Given the description of an element on the screen output the (x, y) to click on. 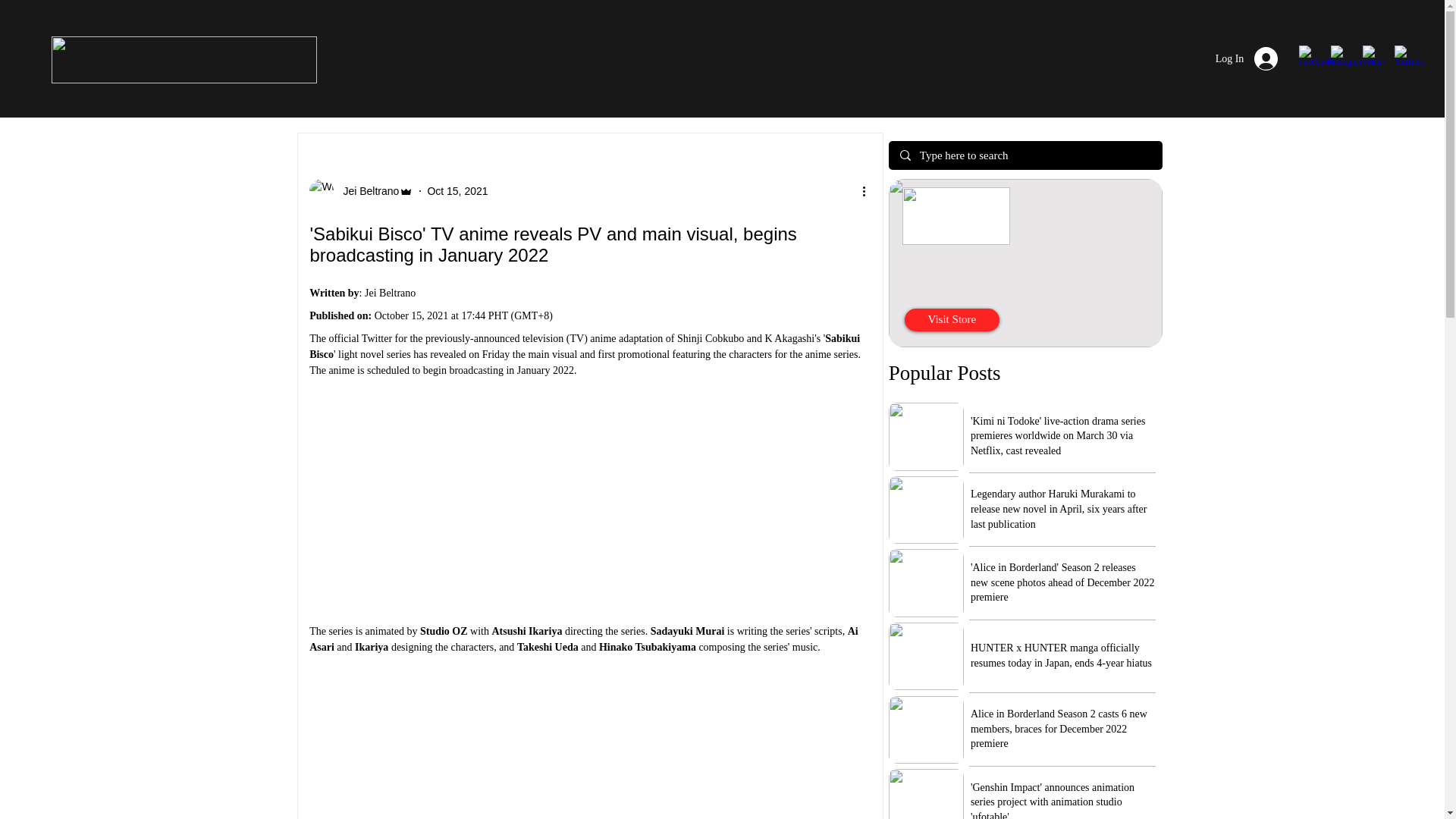
Log In (1246, 58)
Oct 15, 2021 (456, 191)
Jei Beltrano (360, 191)
Jei Beltrano (365, 191)
